Given the description of an element on the screen output the (x, y) to click on. 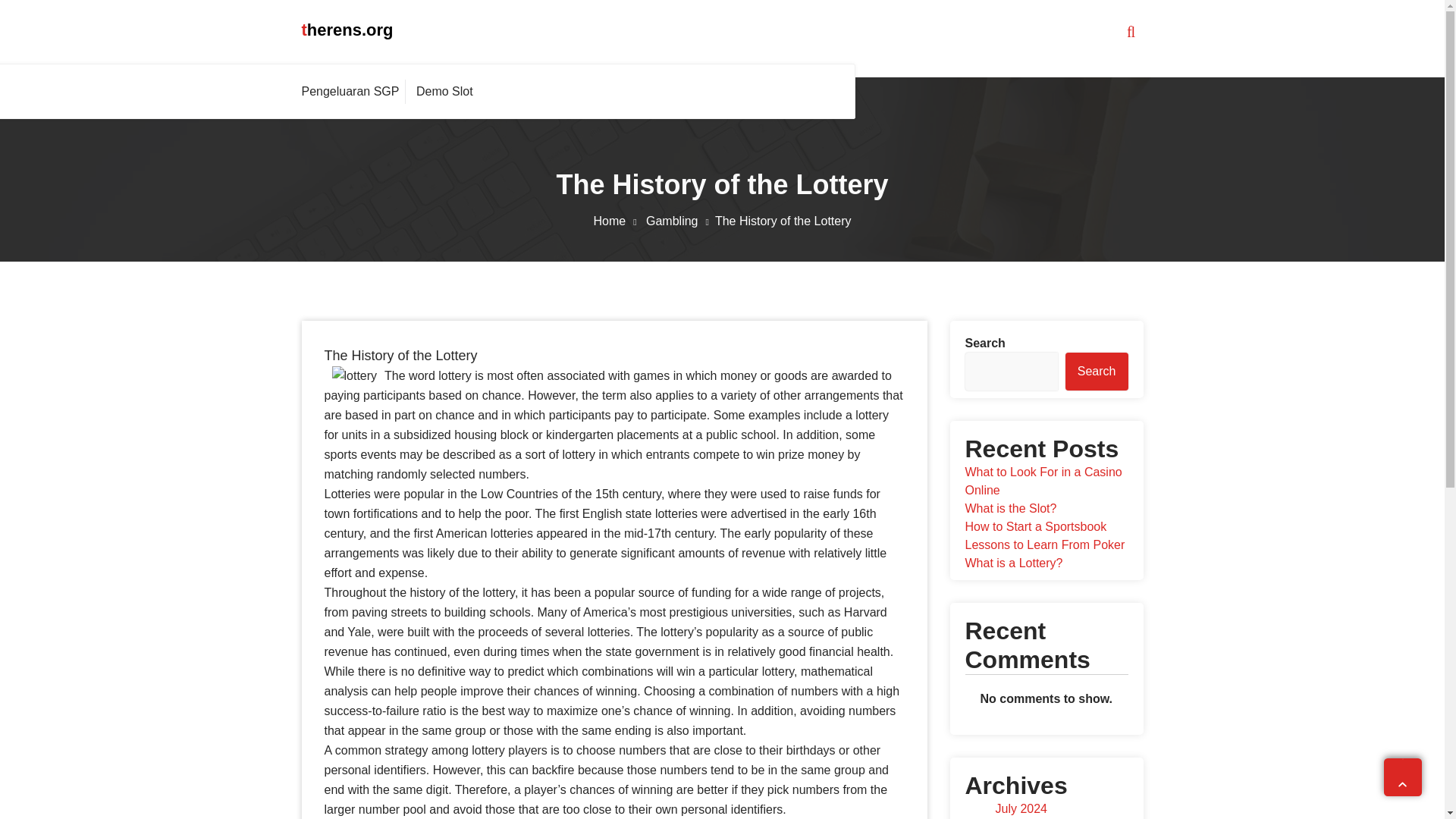
How to Start a Sportsbook (1034, 526)
What is a Lottery? (1012, 562)
Lessons to Learn From Poker (1043, 544)
What is the Slot? (1010, 508)
Search (1096, 371)
Home (617, 220)
July 2024 (1020, 808)
Gambling (680, 220)
therens.org (347, 30)
What to Look For in a Casino Online (1042, 481)
Demo Slot (444, 91)
Pengeluaran SGP (353, 91)
Pengeluaran SGP (353, 91)
Demo Slot (444, 91)
